Given the description of an element on the screen output the (x, y) to click on. 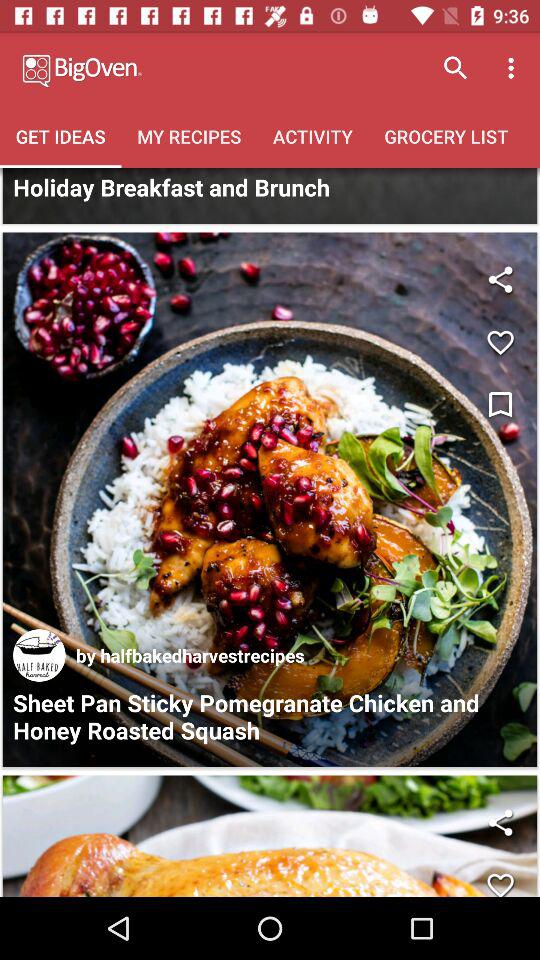
go to search button (456, 68)
go to wish list icon (500, 406)
heading of the page with logo (166, 68)
select the text by halfbakedharvestrecipes (190, 655)
